Given the description of an element on the screen output the (x, y) to click on. 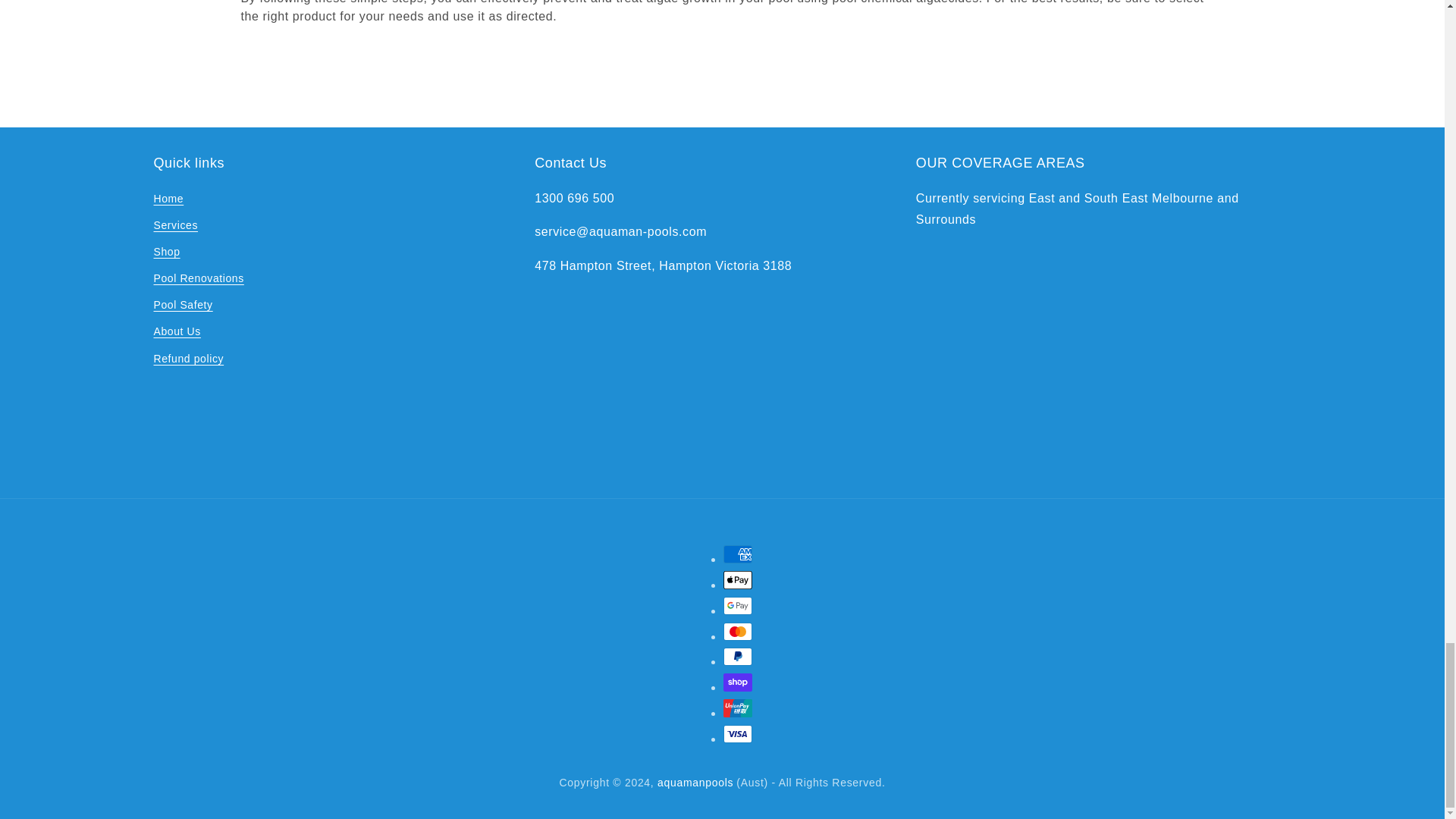
Mastercard (737, 631)
Shop Pay (737, 682)
PayPal (737, 656)
American Express (737, 554)
Apple Pay (737, 579)
Google Pay (737, 606)
Union Pay (737, 708)
Visa (737, 733)
